Given the description of an element on the screen output the (x, y) to click on. 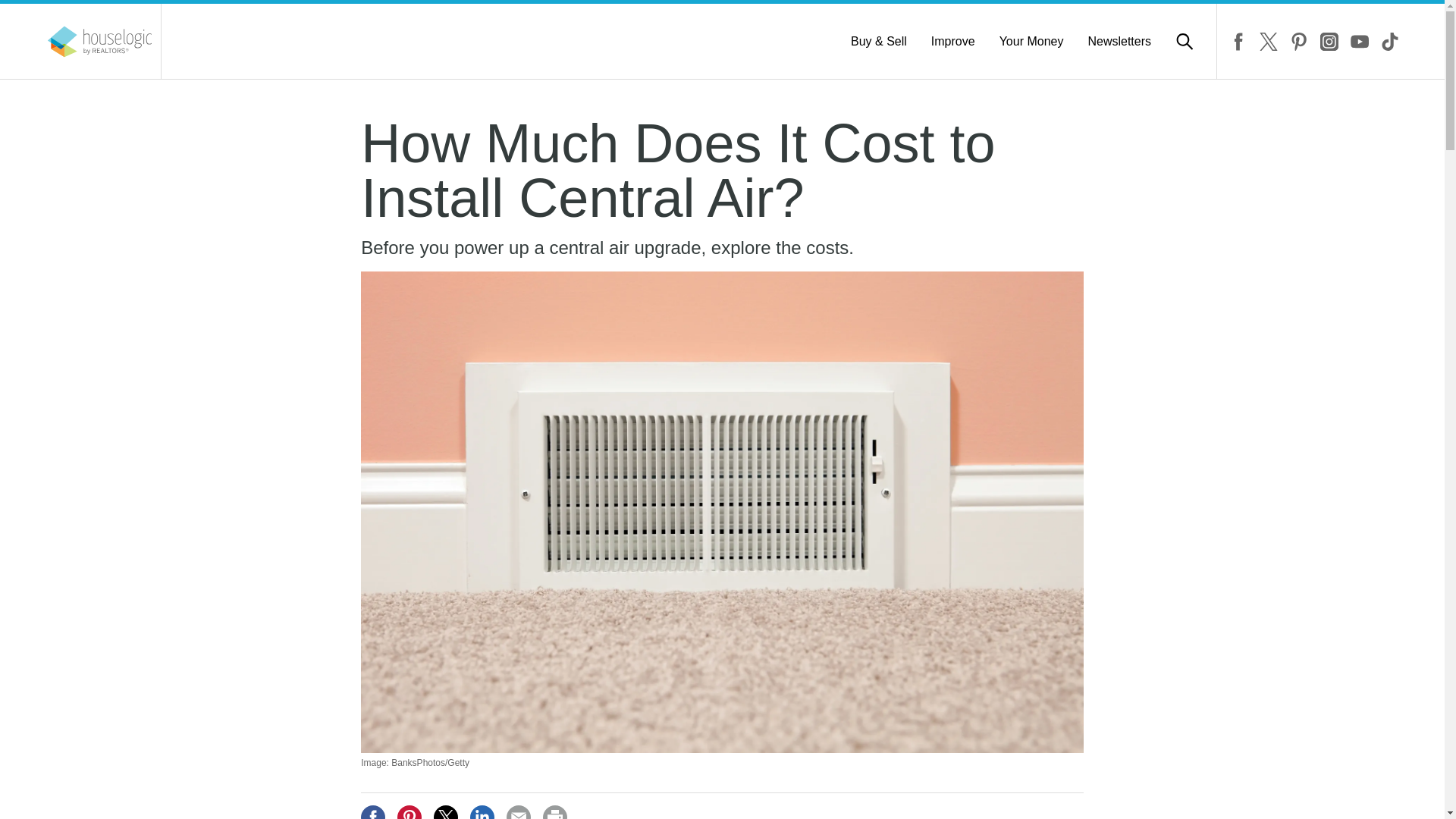
Share on Twitter (445, 812)
Share on Facebook (373, 812)
Share on LinkedIn (482, 812)
Share on Pinterest (409, 812)
Print Article (555, 812)
Share via Email (518, 812)
Improve (953, 41)
Your Money (1031, 41)
